Given the description of an element on the screen output the (x, y) to click on. 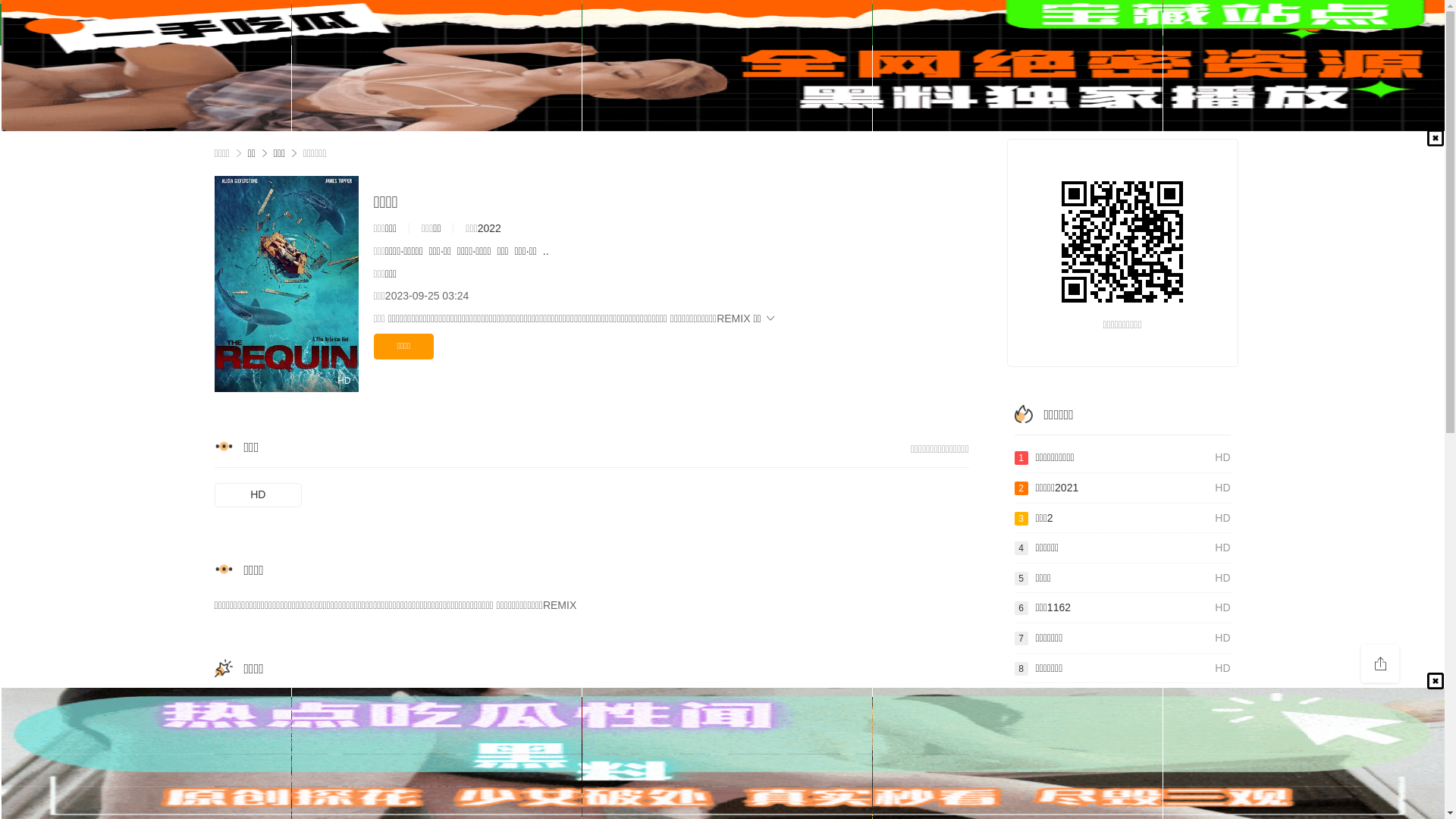
HD Element type: text (285, 283)
HD Element type: text (257, 495)
http://www.174tv.com/tv/84.html Element type: hover (1121, 241)
2022 Element type: text (489, 228)
.. Element type: text (545, 250)
